Given the description of an element on the screen output the (x, y) to click on. 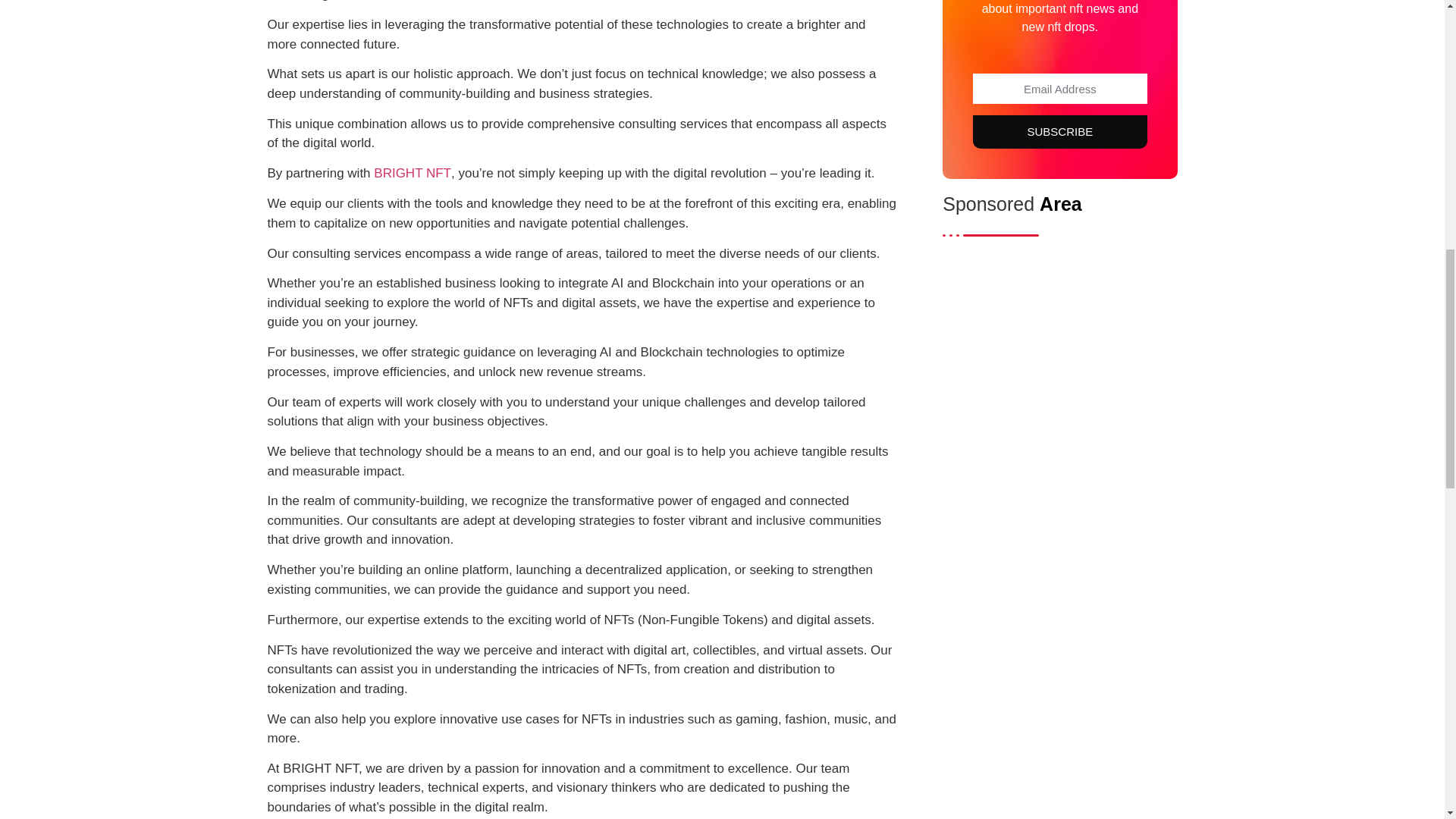
SUBSCRIBE (1059, 131)
BRIGHT NFT (412, 173)
